Given the description of an element on the screen output the (x, y) to click on. 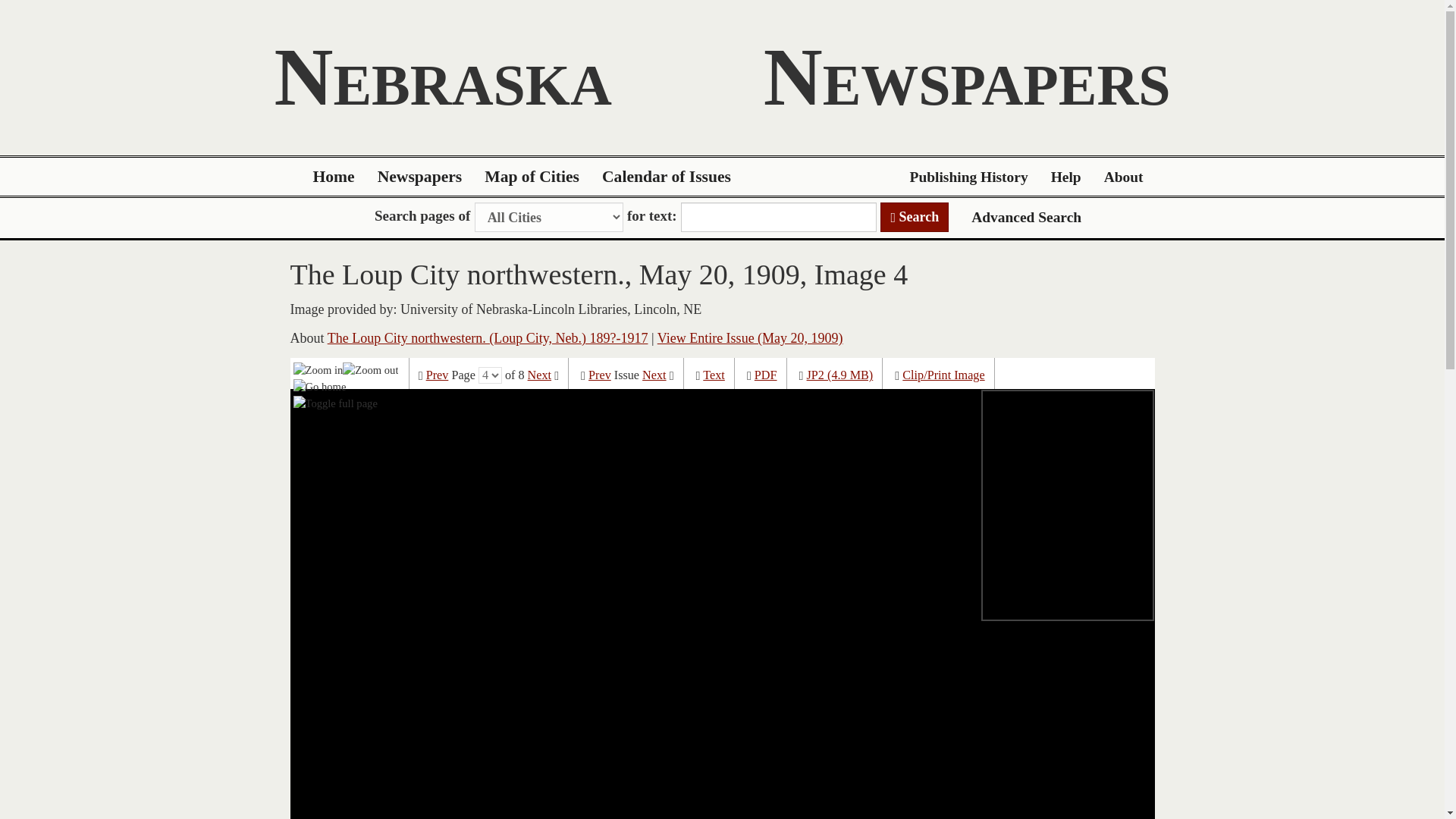
Next (539, 375)
Go home (320, 386)
About (1123, 176)
Home (333, 176)
Advanced Search (1026, 216)
Prev (437, 375)
Publishing History (968, 176)
Help (1066, 176)
Search (914, 217)
Map of Cities (532, 176)
